Given the description of an element on the screen output the (x, y) to click on. 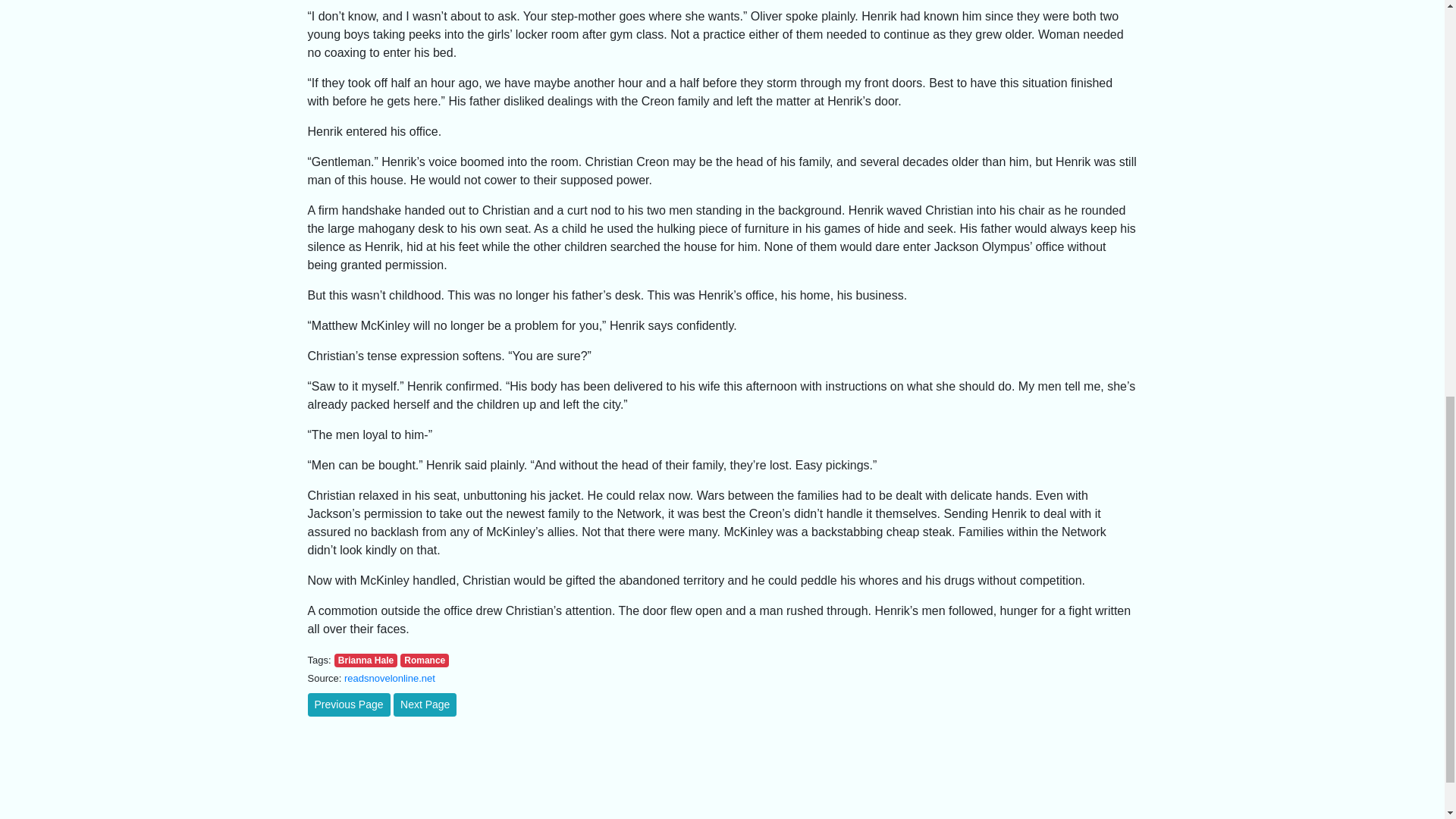
Previous Page (348, 704)
Brianna Hale (365, 660)
Romance (424, 660)
Brianna Hale Books (365, 660)
Romance Books (424, 660)
Next Page (425, 704)
readsnovelonline.net (389, 677)
Previous Page (348, 704)
Next Page (425, 704)
